Given the description of an element on the screen output the (x, y) to click on. 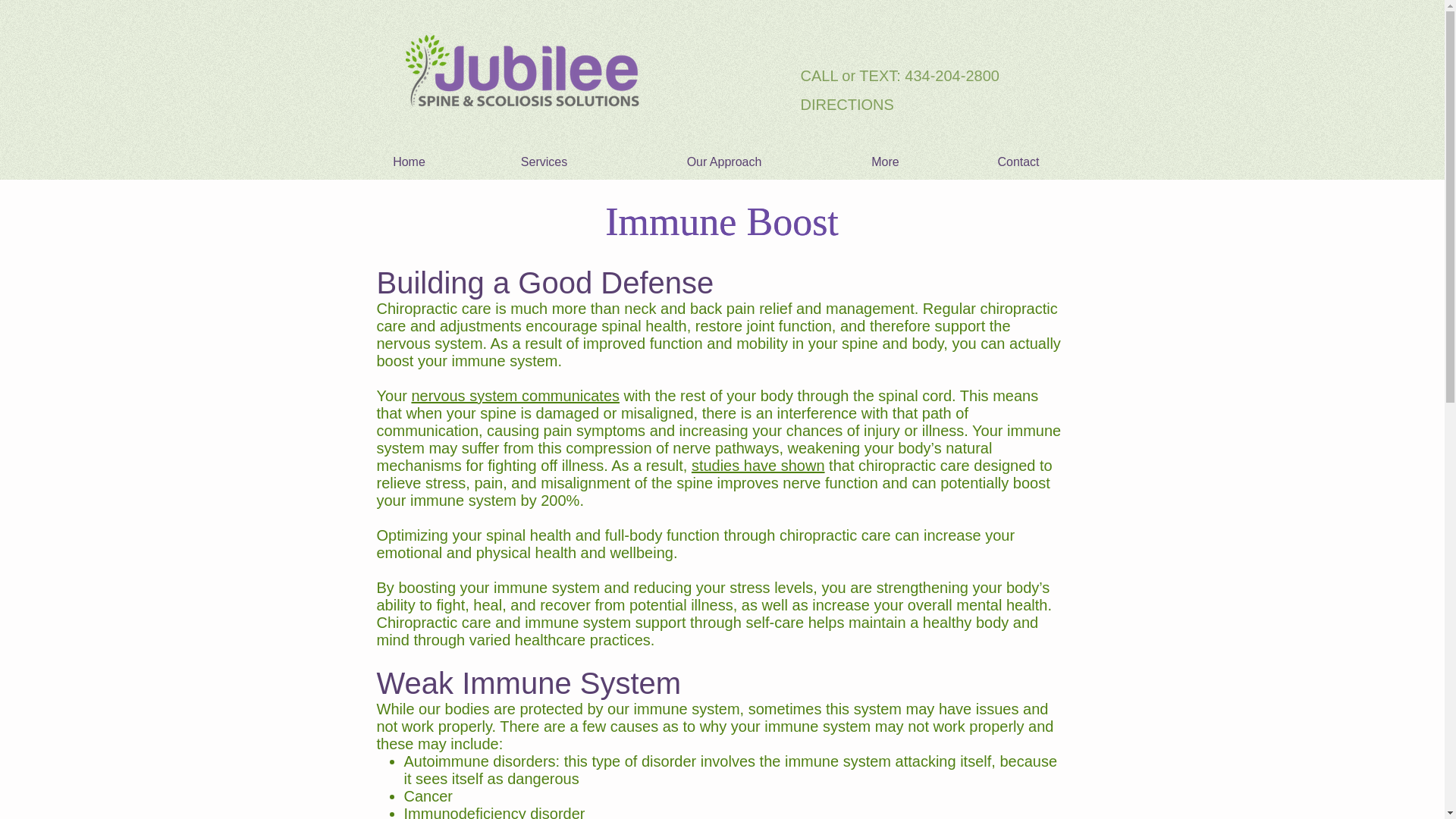
DIRECTIONS (905, 103)
studies have shown (758, 465)
Services (543, 161)
Home (408, 161)
nervous system communicates (515, 395)
Our Approach (723, 161)
Contact (1018, 161)
CALL or TEXT: 434-204-2800 (905, 75)
